Given the description of an element on the screen output the (x, y) to click on. 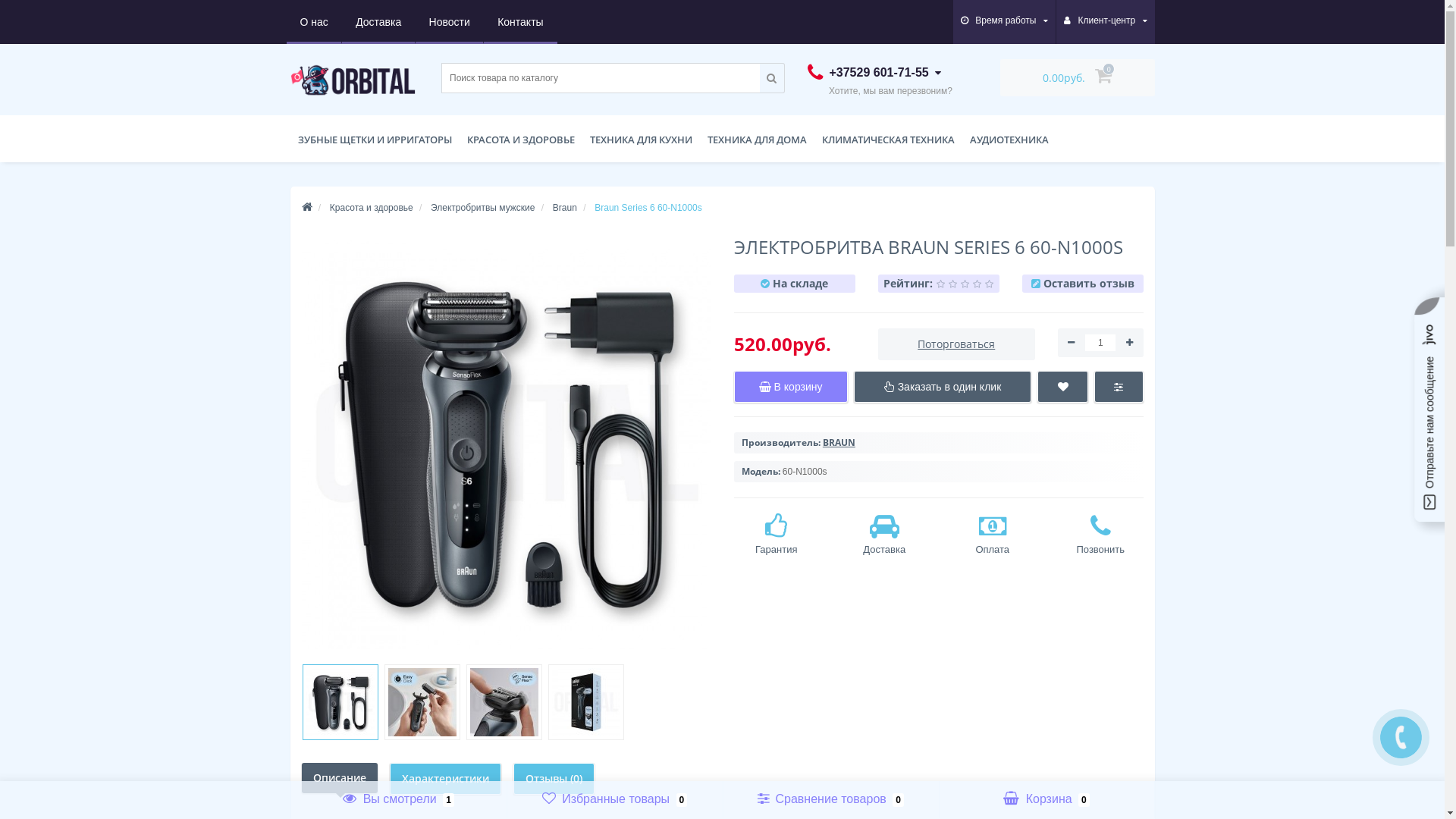
BRAUN Element type: text (838, 442)
Braun Element type: text (564, 207)
+37529 601-71-55 Element type: text (874, 71)
